Given the description of an element on the screen output the (x, y) to click on. 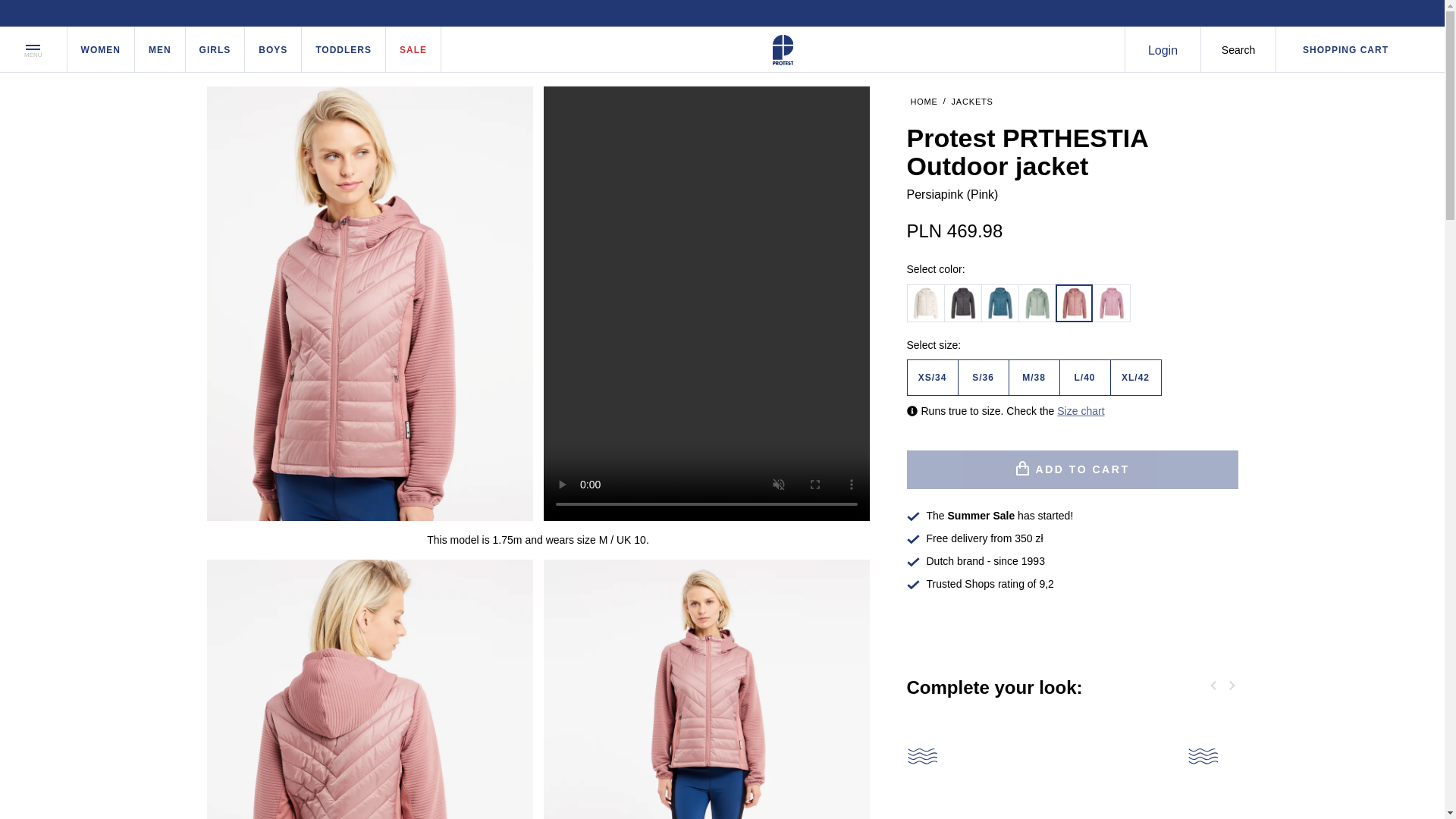
HOME (924, 102)
WOMEN (100, 49)
GIRLS (216, 49)
TODDLERS (343, 49)
MEN (160, 49)
SALE (413, 49)
BOYS (272, 49)
JACKETS (972, 102)
MENU (33, 49)
Login (1161, 49)
